Given the description of an element on the screen output the (x, y) to click on. 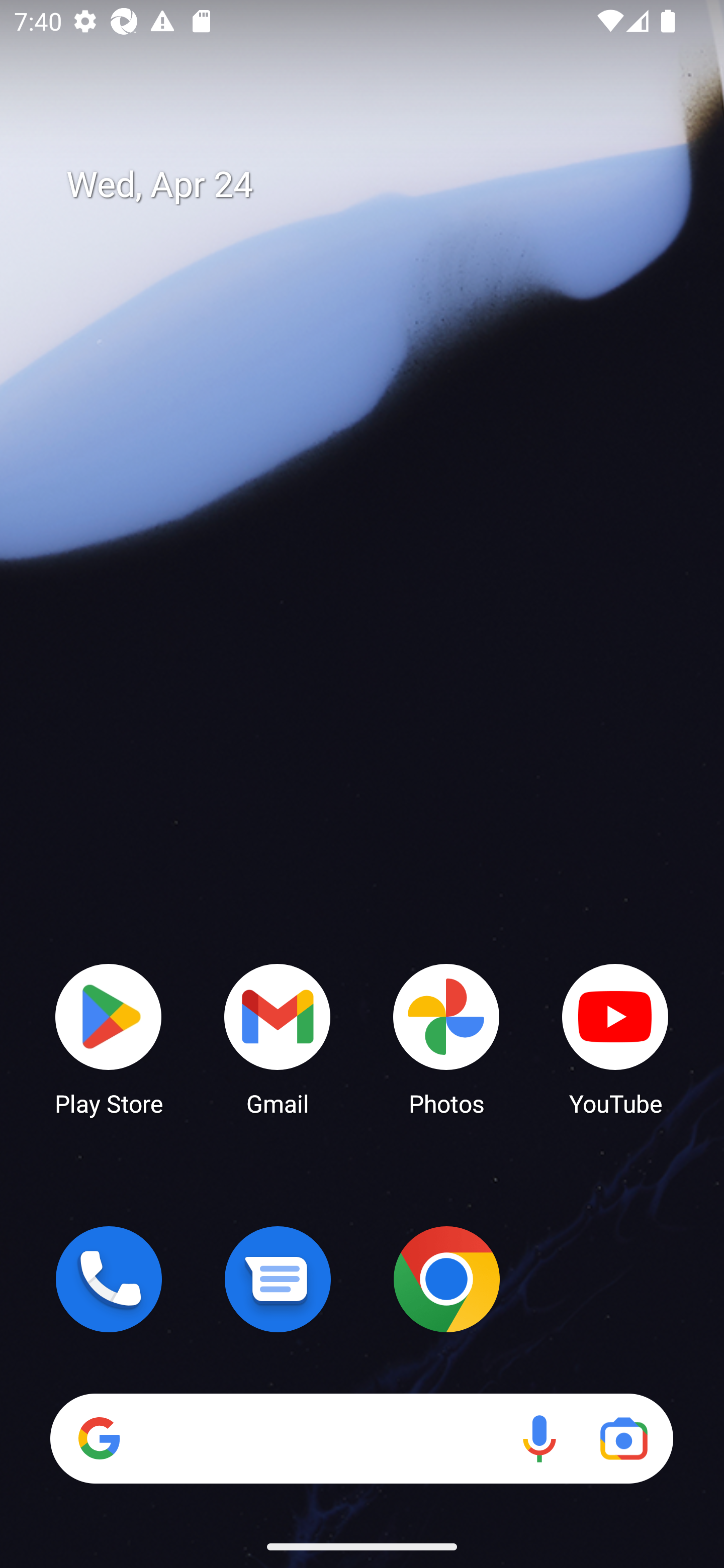
Wed, Apr 24 (375, 184)
Play Store (108, 1038)
Gmail (277, 1038)
Photos (445, 1038)
YouTube (615, 1038)
Phone (108, 1279)
Messages (277, 1279)
Chrome (446, 1279)
Search Voice search Google Lens (361, 1438)
Voice search (539, 1438)
Google Lens (623, 1438)
